Given the description of an element on the screen output the (x, y) to click on. 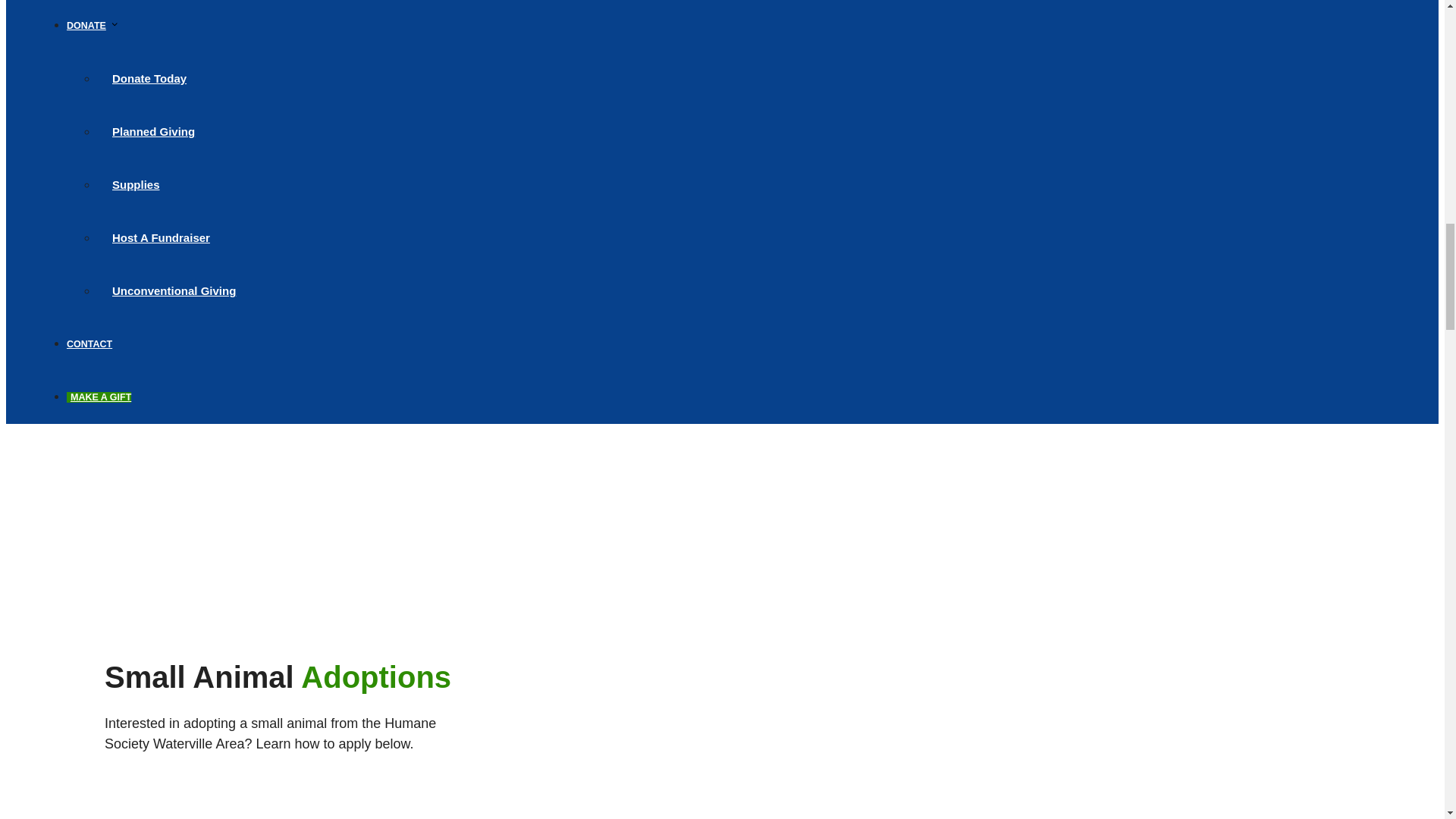
Donate Today (149, 77)
Supplies (135, 184)
Host A Fundraiser (161, 237)
Planned Giving (153, 131)
DONATE (92, 25)
